Given the description of an element on the screen output the (x, y) to click on. 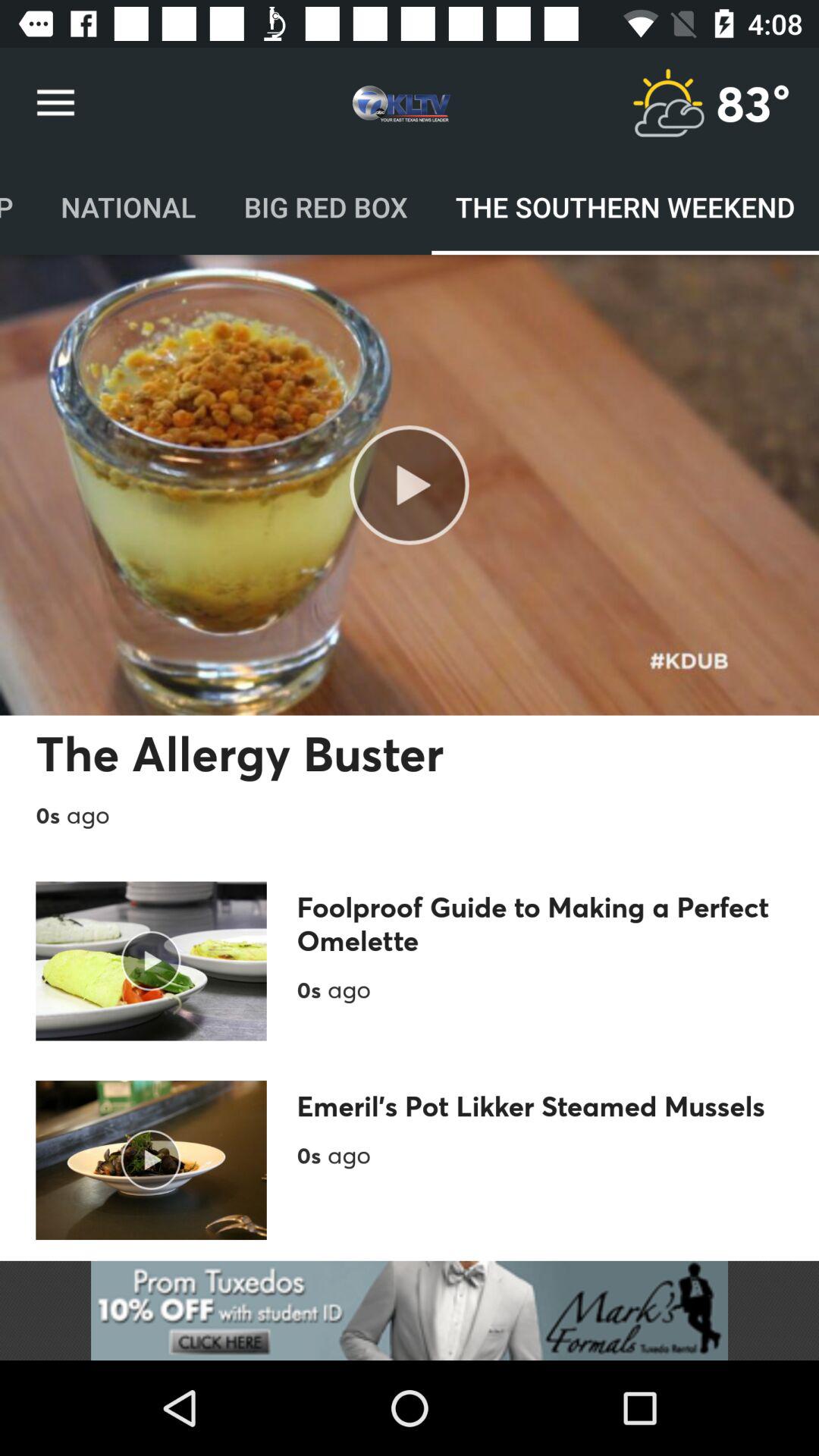
go to advertisement (668, 103)
